Given the description of an element on the screen output the (x, y) to click on. 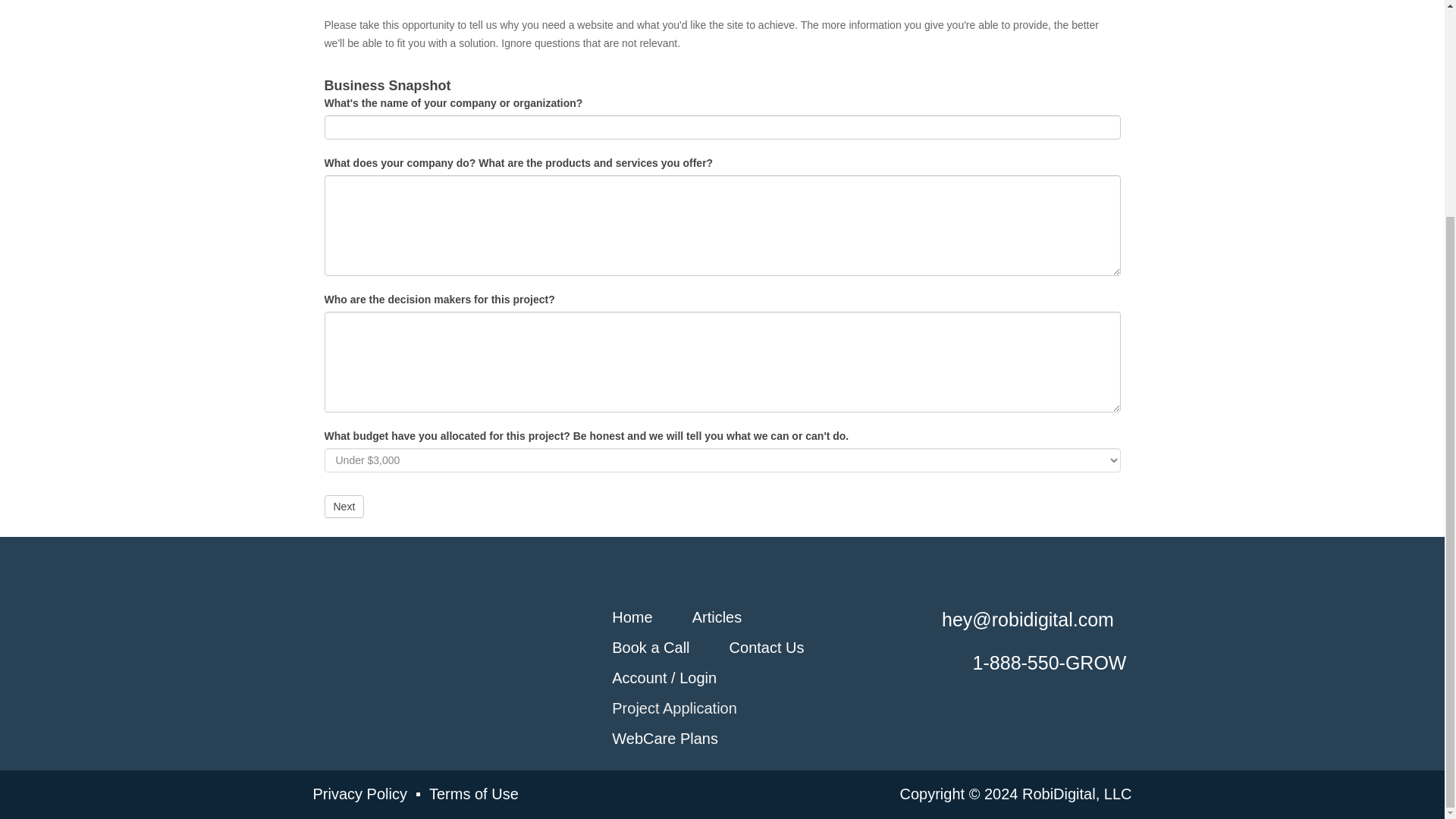
1-888-550-GROW (1050, 663)
Book a Call (649, 646)
Terms of Use (473, 793)
Next (344, 506)
Project Application (673, 707)
Privacy Policy (359, 793)
Contact Us (766, 646)
WebCare Plans (664, 737)
Home (631, 616)
Next (344, 506)
Articles (717, 616)
